Given the description of an element on the screen output the (x, y) to click on. 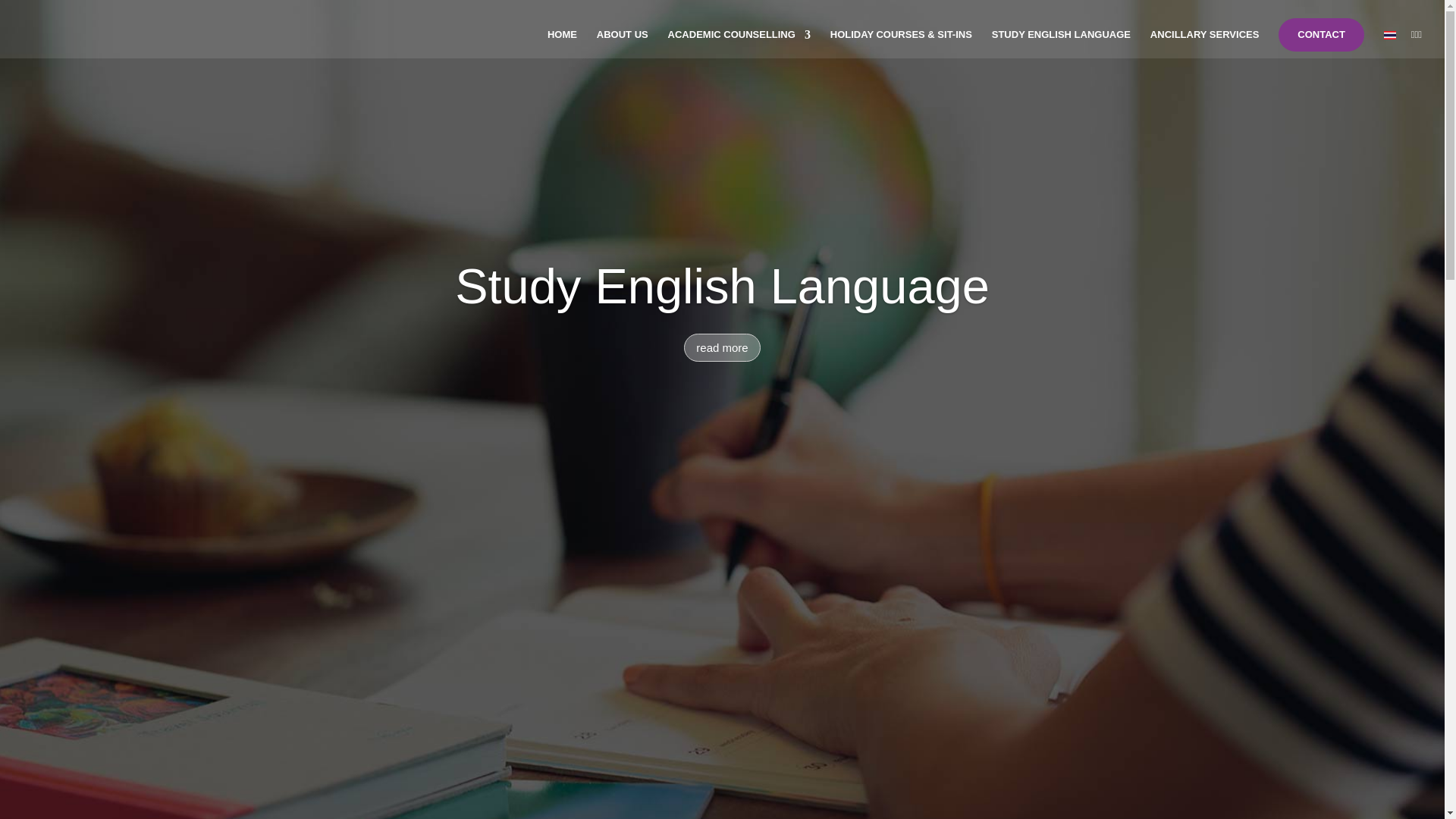
ANCILLARY SERVICES (1204, 43)
ACADEMIC COUNSELLING (739, 43)
CONTACT (1321, 34)
HOME (561, 43)
ABOUT US (621, 43)
STUDY ENGLISH LANGUAGE (1061, 43)
